Given the description of an element on the screen output the (x, y) to click on. 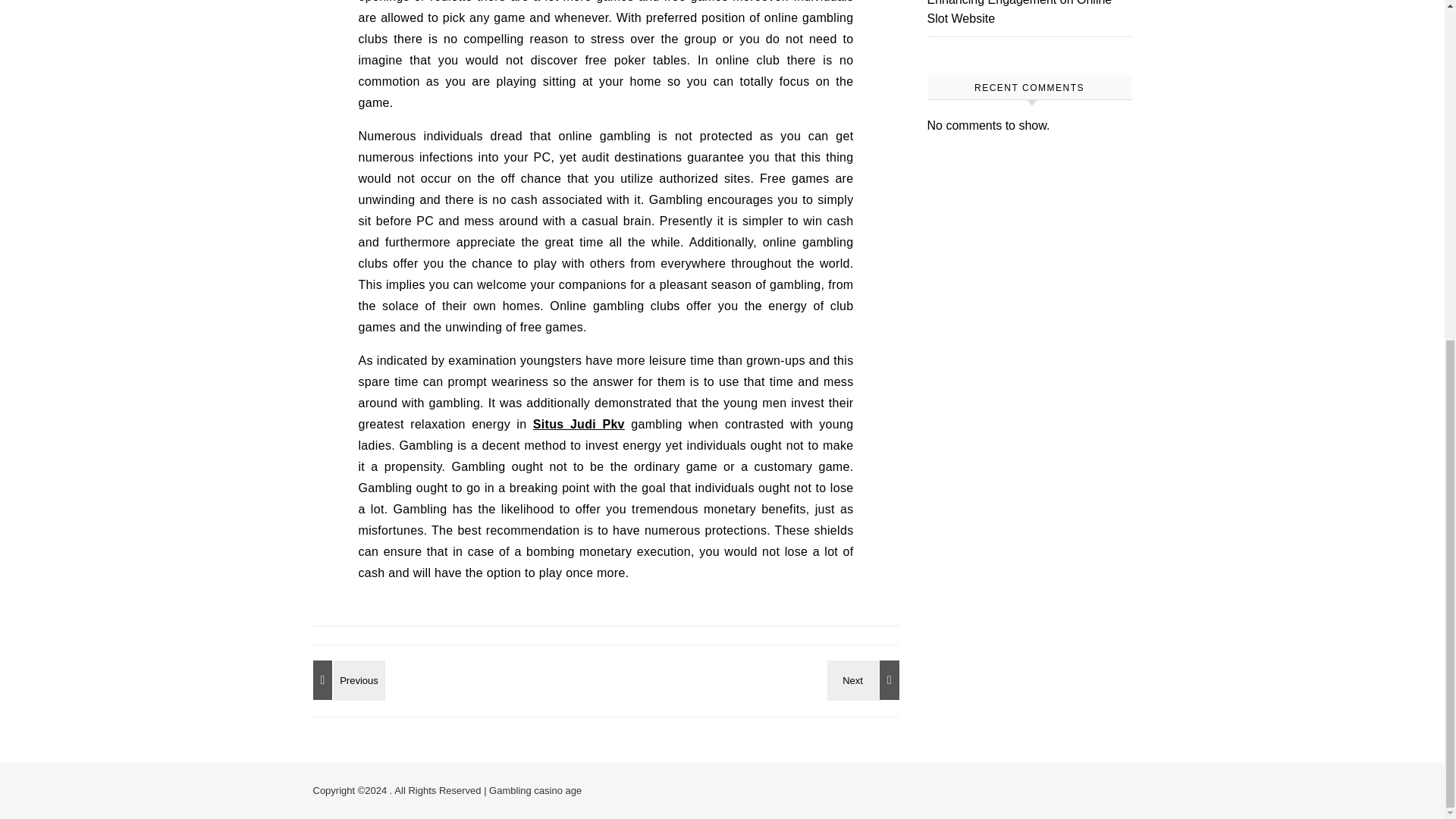
Situs Judi Pkv (578, 423)
Online Sports Gambling For Fun and Money to Learn More (346, 680)
Making Money in Online Casino Slot Machines (865, 680)
